Given the description of an element on the screen output the (x, y) to click on. 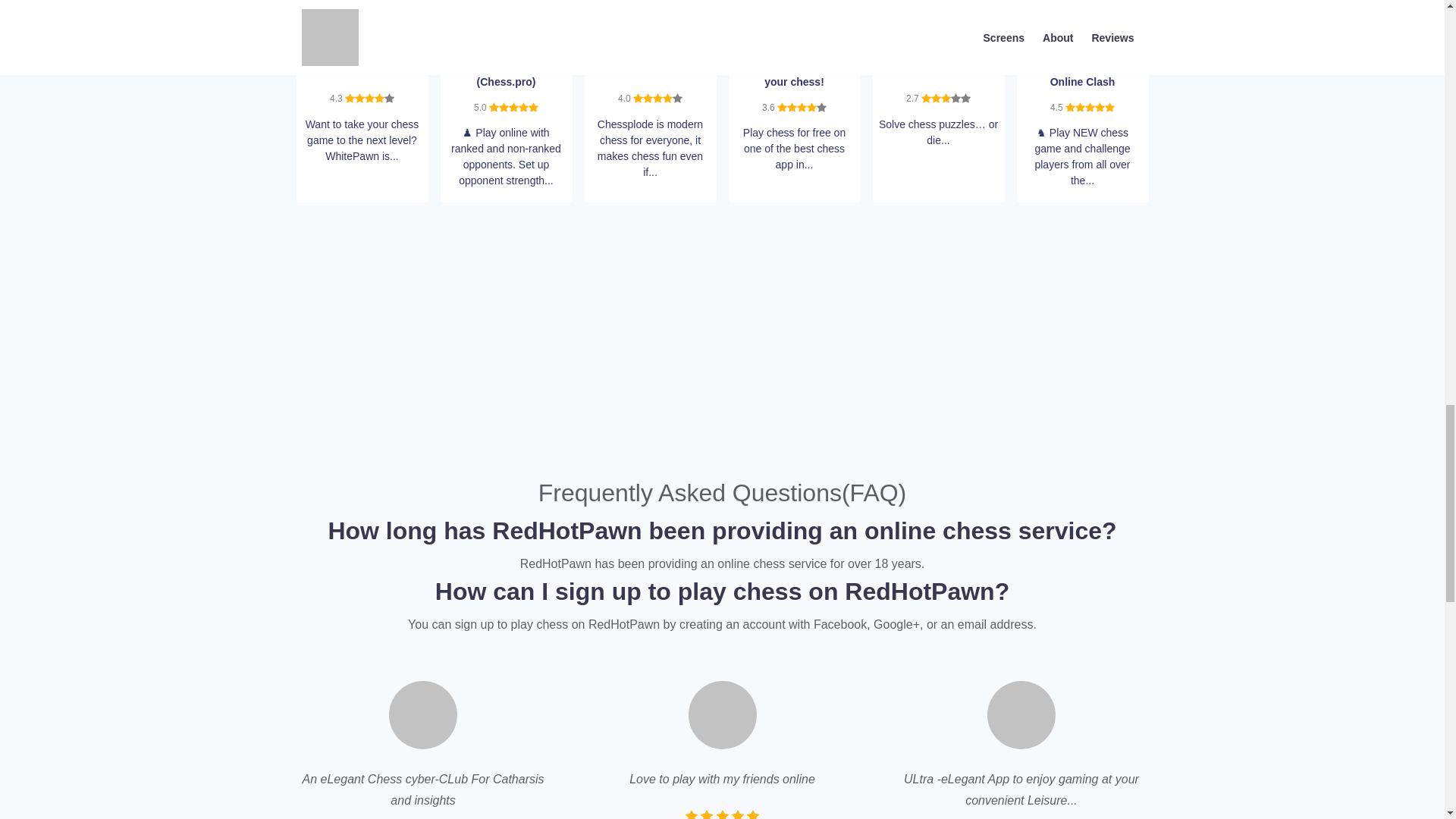
Checkmate or Die (938, 5)
CHESS BATTLE - Online Clash (1081, 5)
WhitePawn (362, 5)
Chessplode (650, 5)
